Given the description of an element on the screen output the (x, y) to click on. 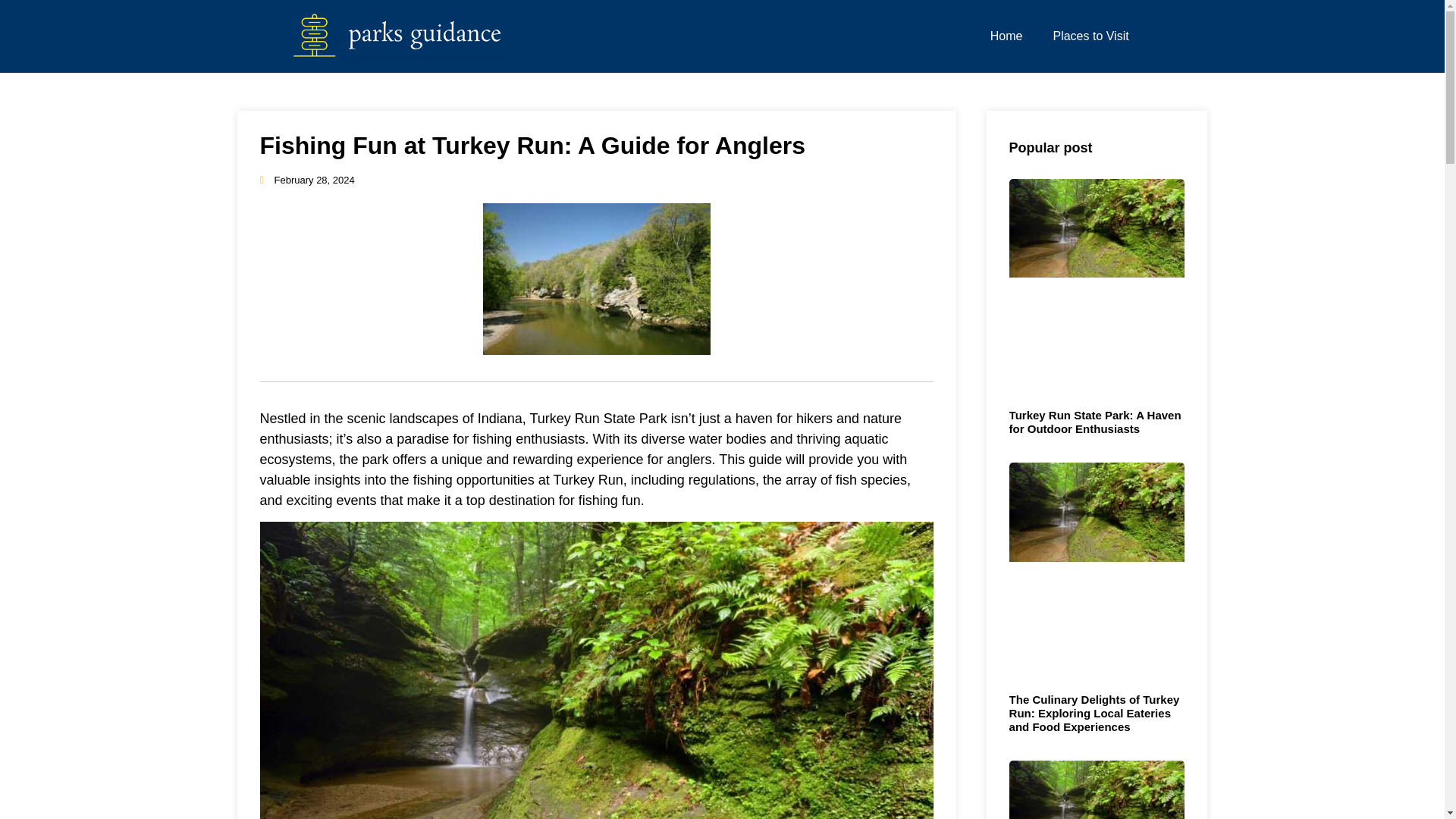
Turkey Run State Park: A Haven for Outdoor Enthusiasts (1094, 421)
February 28, 2024 (306, 180)
Places to Visit (1089, 36)
Home (1006, 36)
